Given the description of an element on the screen output the (x, y) to click on. 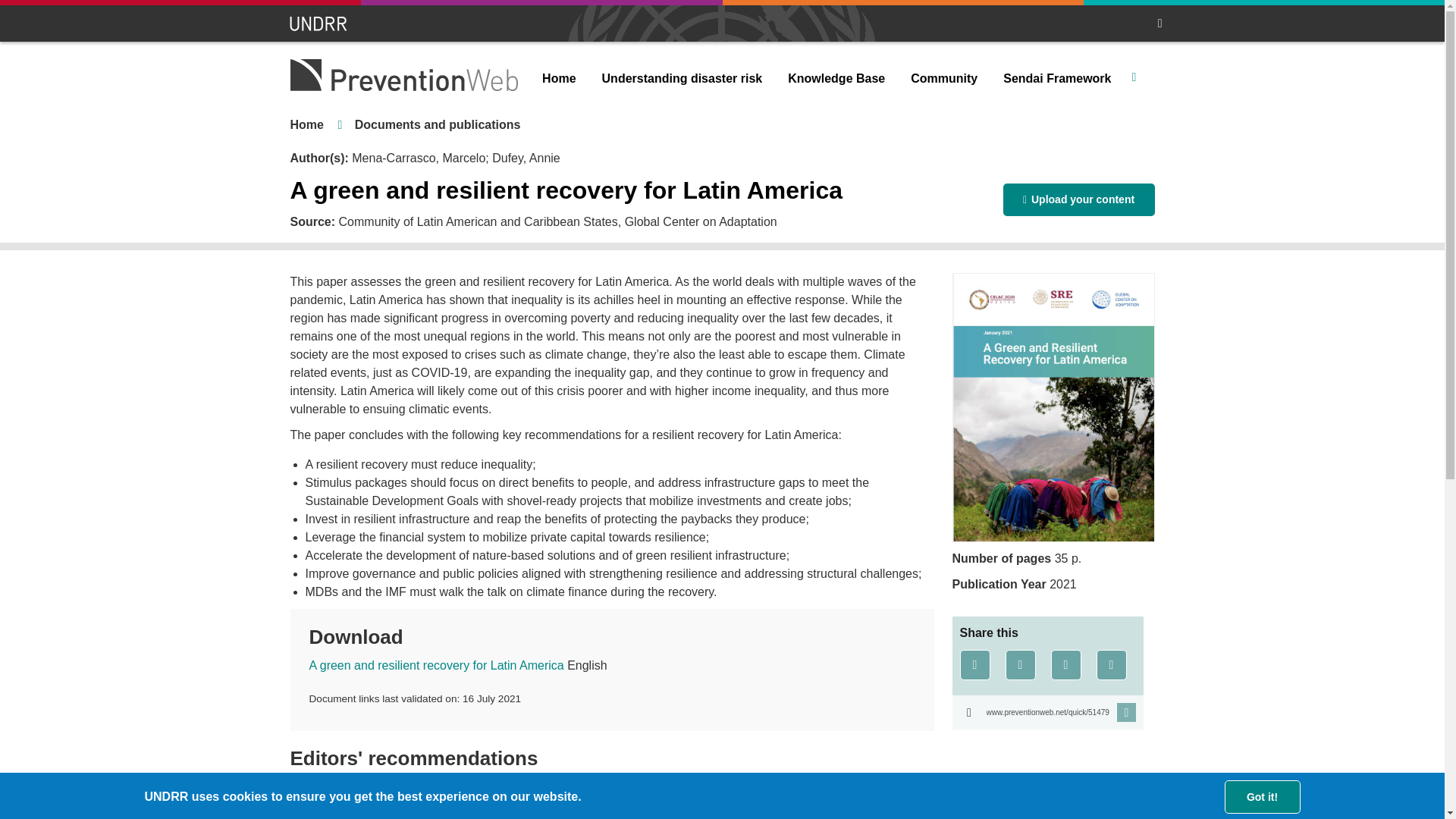
Knowledge Base (836, 78)
The potential of local climate innovation in Latin America (455, 808)
Upload your content (1078, 199)
Copy to Clipboard (1047, 712)
Share via Email (1111, 665)
A green and resilient recovery for Latin America (436, 665)
Home (306, 124)
Home (558, 78)
UNDRR Homepage (319, 23)
Documents and publications (438, 124)
PreventionWeb Logo (402, 74)
Share on Twitter (1020, 665)
Understanding disaster risk (682, 78)
